Given the description of an element on the screen output the (x, y) to click on. 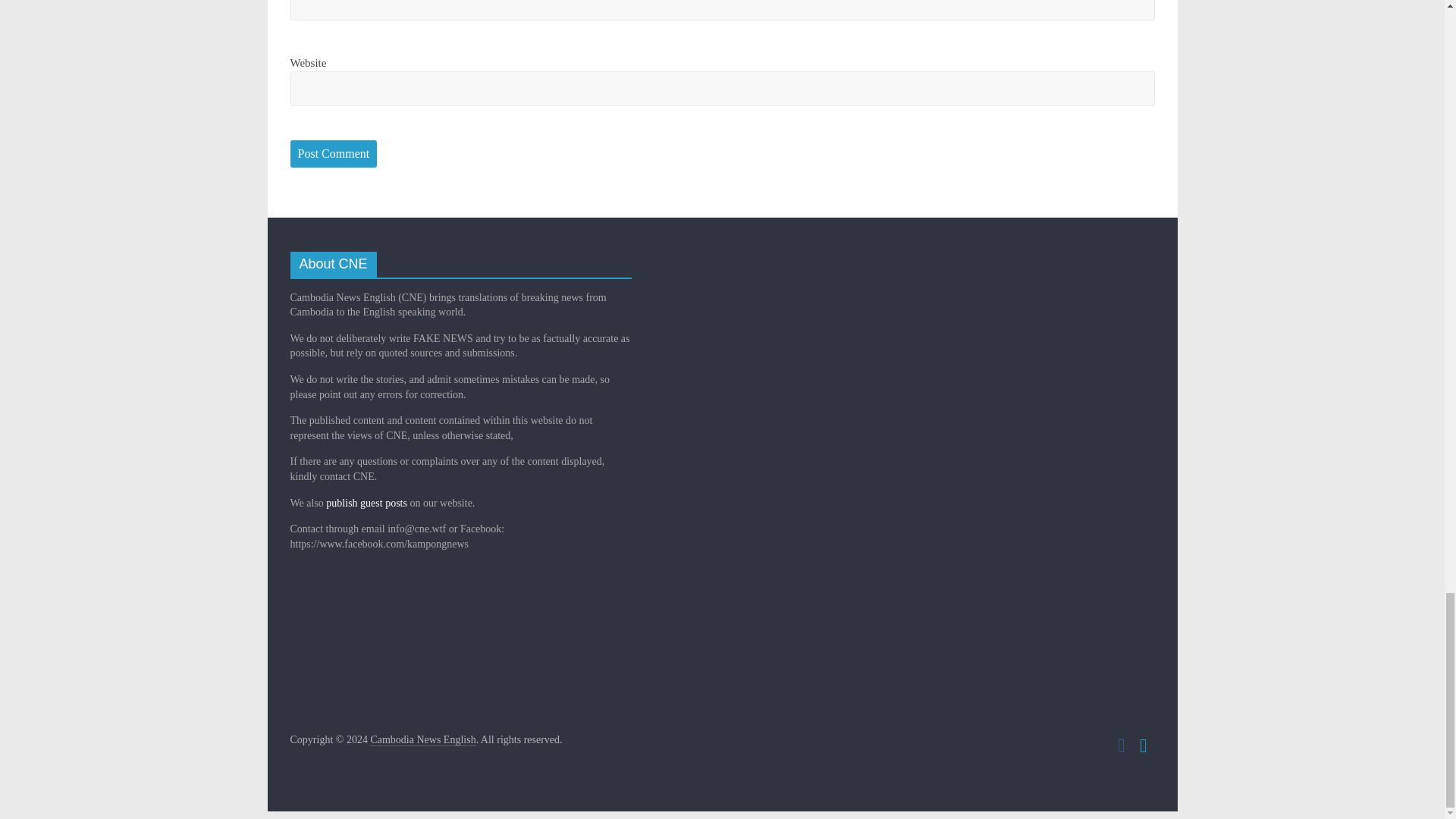
Post Comment (333, 153)
